Given the description of an element on the screen output the (x, y) to click on. 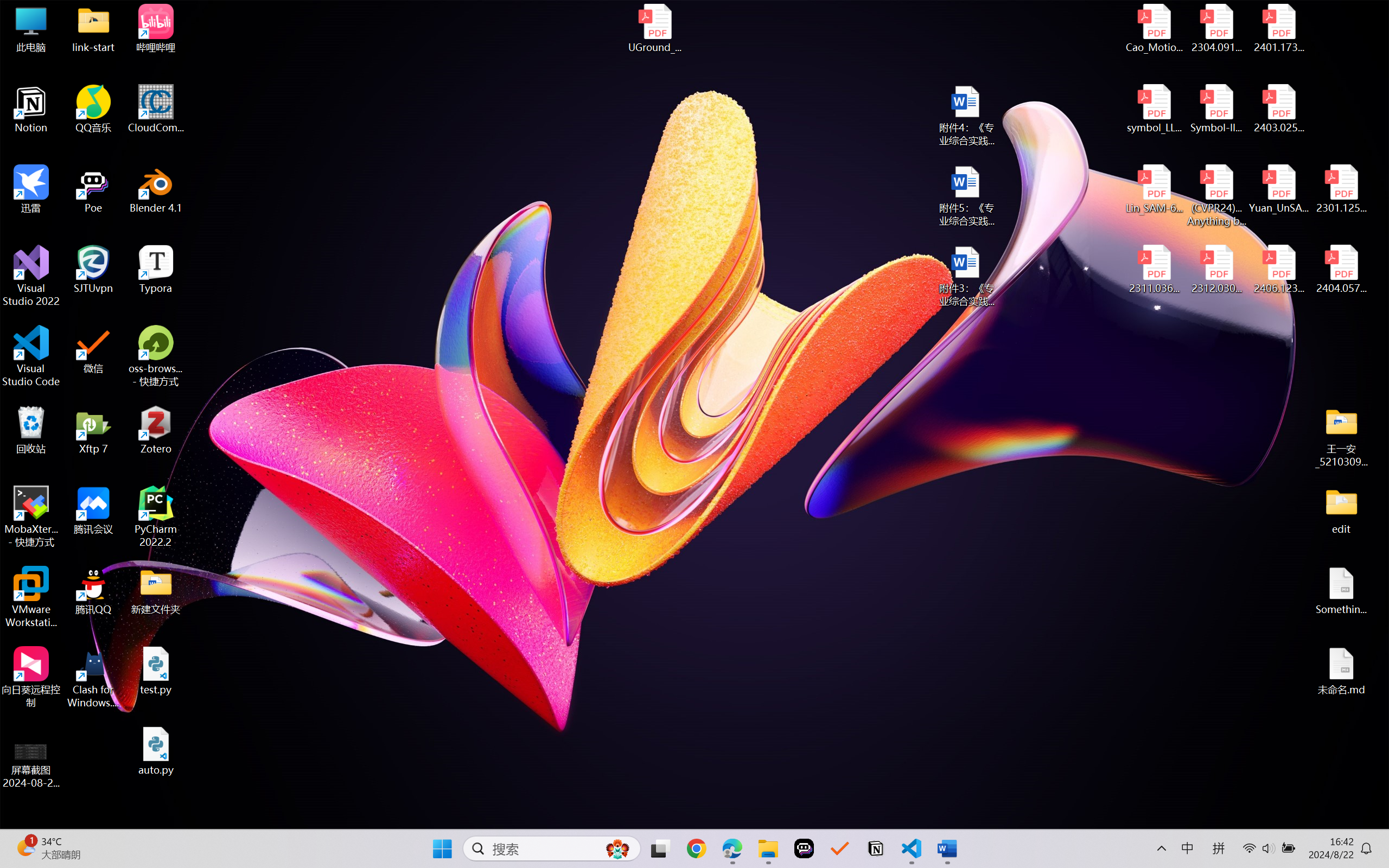
Google Chrome (696, 848)
Typora (156, 269)
2401.17399v1.pdf (1278, 28)
Visual Studio 2022 (31, 276)
